Given the description of an element on the screen output the (x, y) to click on. 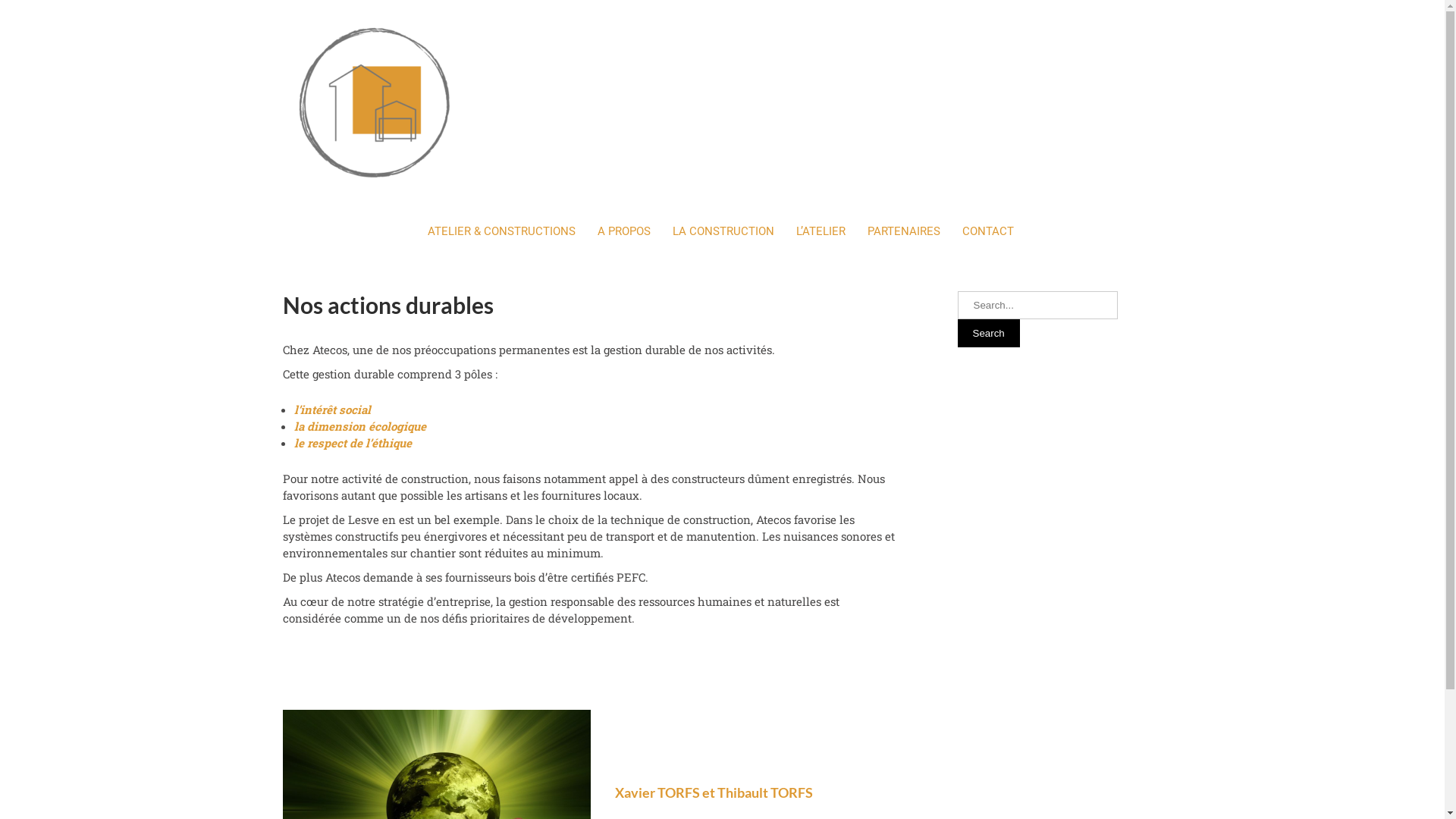
PARTENAIRES Element type: text (903, 231)
ATELIER & CONSTRUCTIONS Element type: text (501, 231)
A PROPOS Element type: text (623, 231)
Search Element type: text (988, 333)
CONTACT Element type: text (986, 231)
LA CONSTRUCTION Element type: text (722, 231)
